Given the description of an element on the screen output the (x, y) to click on. 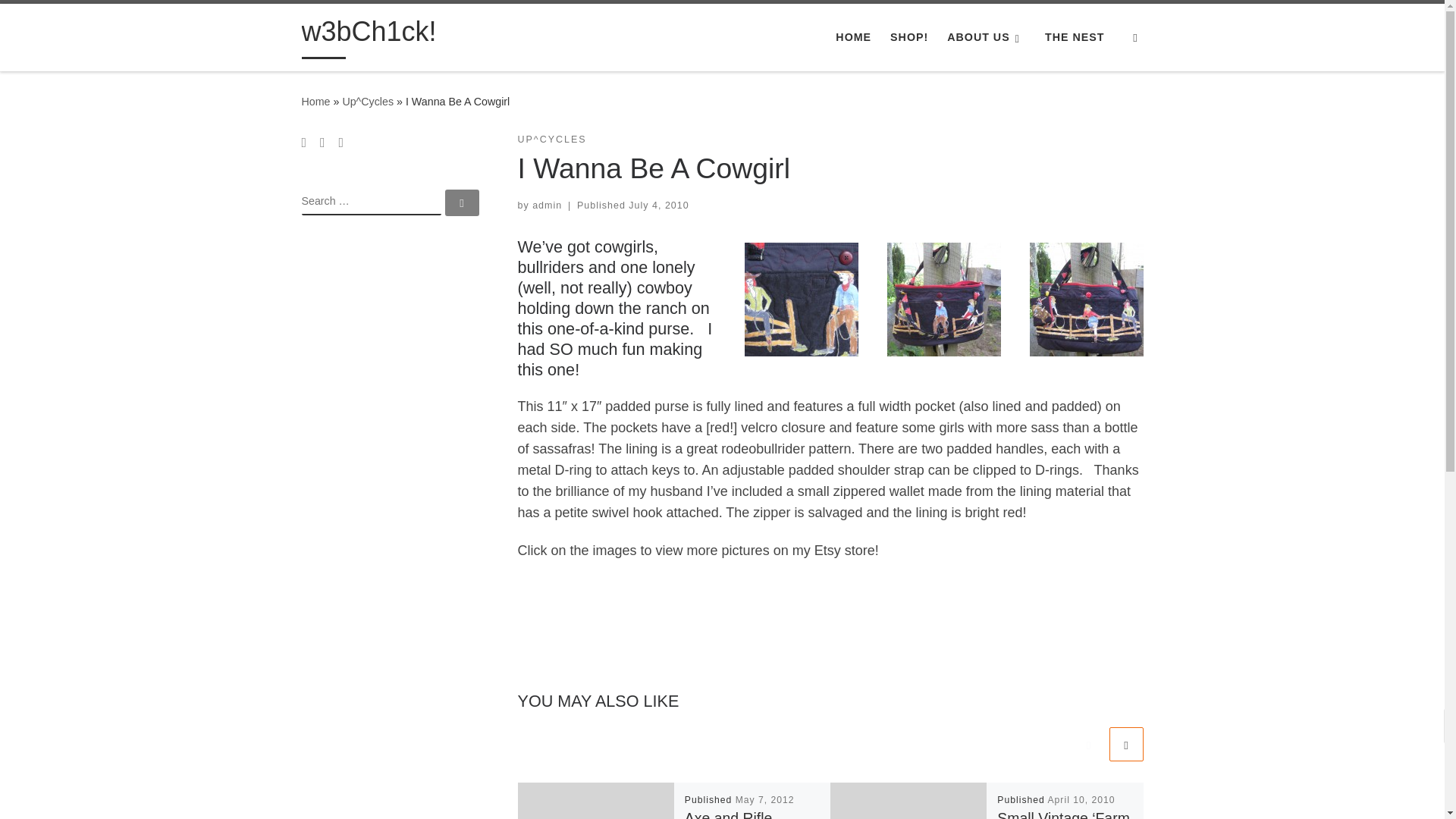
Next related articles (1125, 744)
w3bCh1ck! (368, 34)
admin (547, 204)
HOME (853, 37)
Home (315, 101)
View all posts by admin (547, 204)
May 7, 2012 (764, 799)
Skip to content (60, 20)
ABOUT US (986, 37)
SHOP! (909, 37)
